Given the description of an element on the screen output the (x, y) to click on. 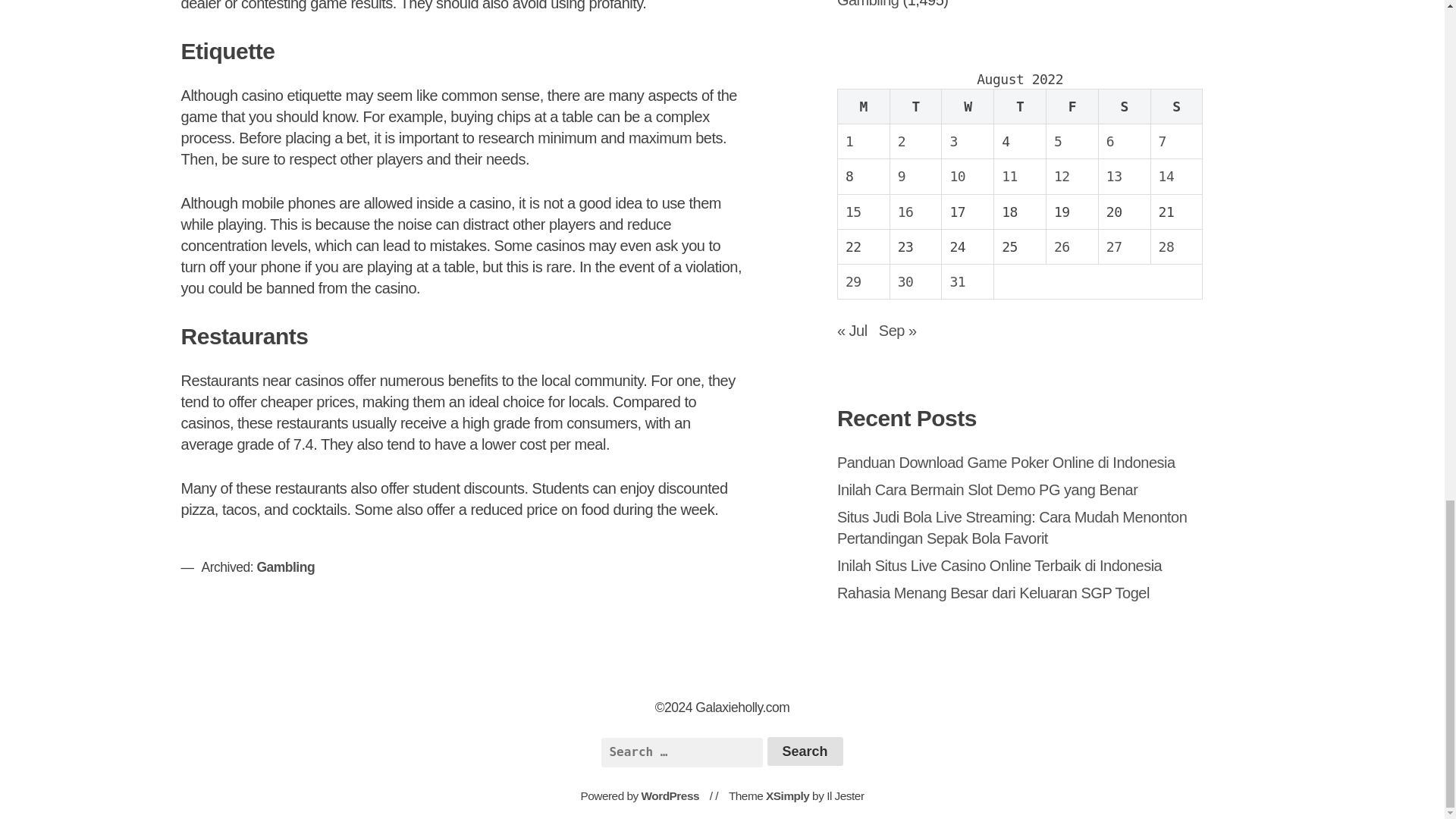
Wednesday (968, 105)
Sunday (1176, 105)
Search (805, 751)
Gambling (285, 566)
Search (805, 751)
Gambling (868, 4)
Monday (863, 105)
Thursday (1020, 105)
Tuesday (915, 105)
Saturday (1123, 105)
Friday (1072, 105)
